Given the description of an element on the screen output the (x, y) to click on. 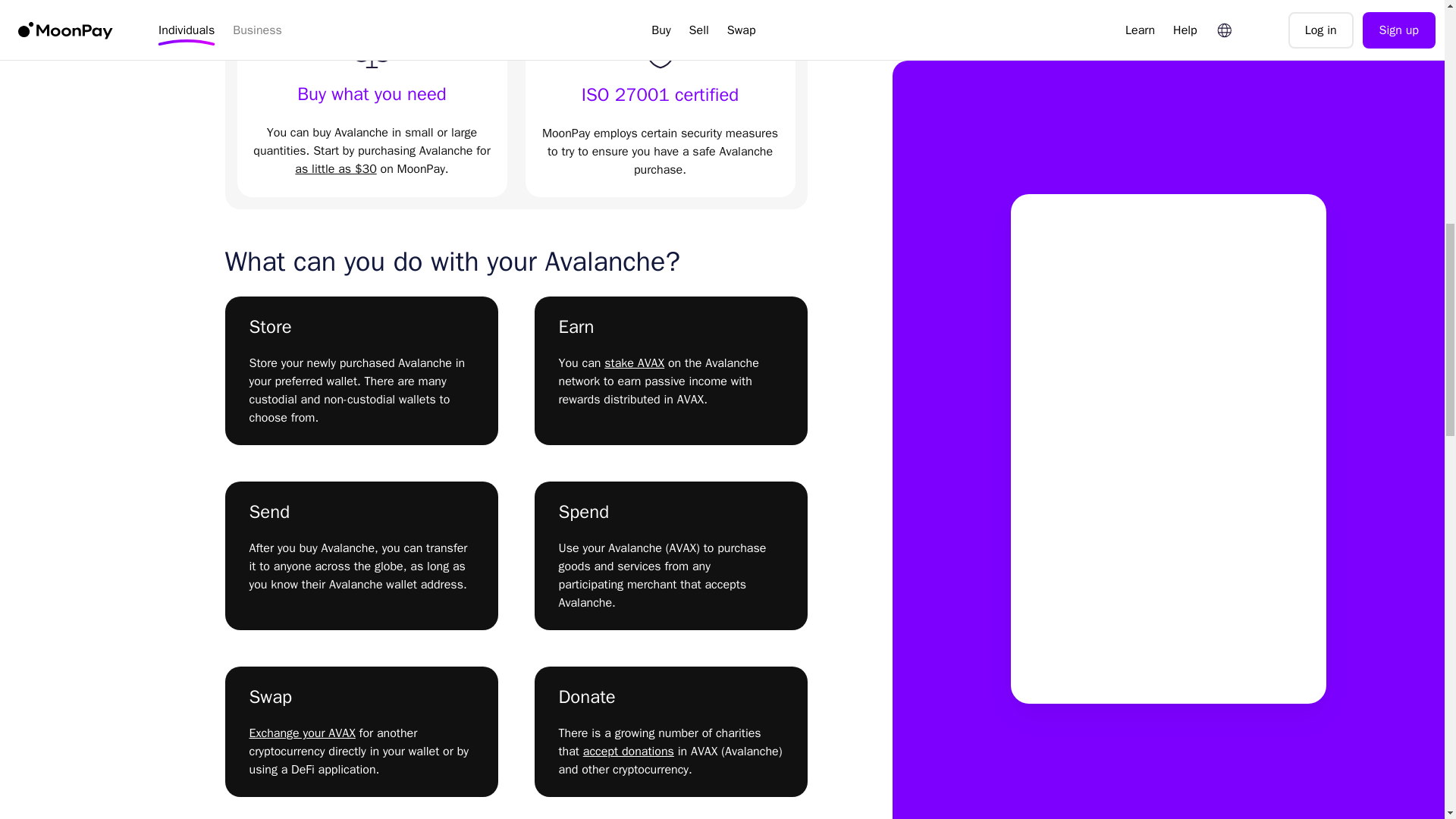
stake AVAX (633, 363)
Exchange your AVAX (301, 733)
accept donations (628, 751)
preferred wallet (315, 381)
